Given the description of an element on the screen output the (x, y) to click on. 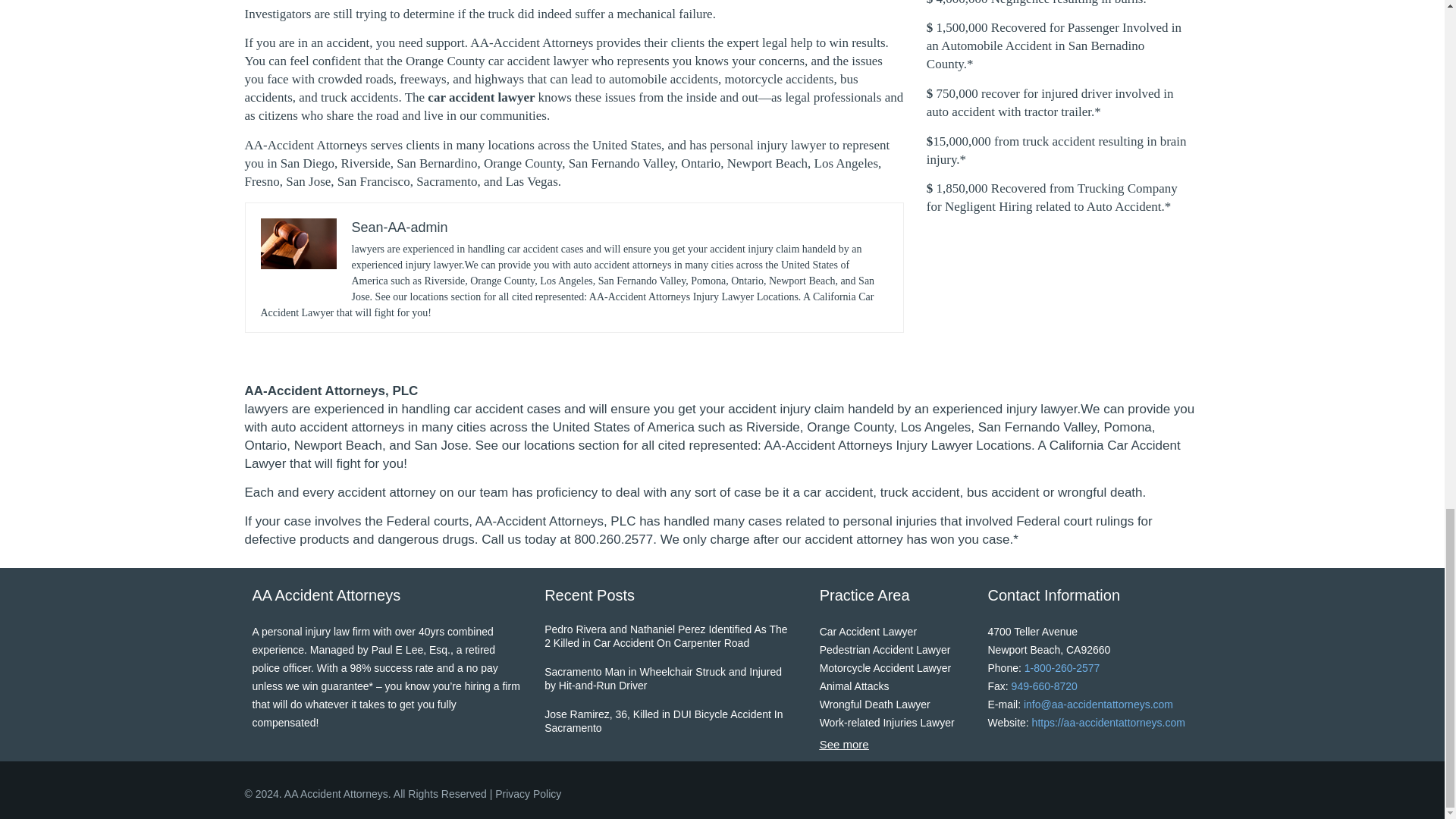
1-800-260-2577 (1062, 667)
personal injury lawyer  (769, 145)
See more (844, 744)
Privacy Policy (527, 793)
Los Angeles Car Accident Lawyer (497, 60)
Orange County car accident lawyer (497, 60)
Sean-AA-admin (400, 227)
949-660-8720 (1044, 686)
